Given the description of an element on the screen output the (x, y) to click on. 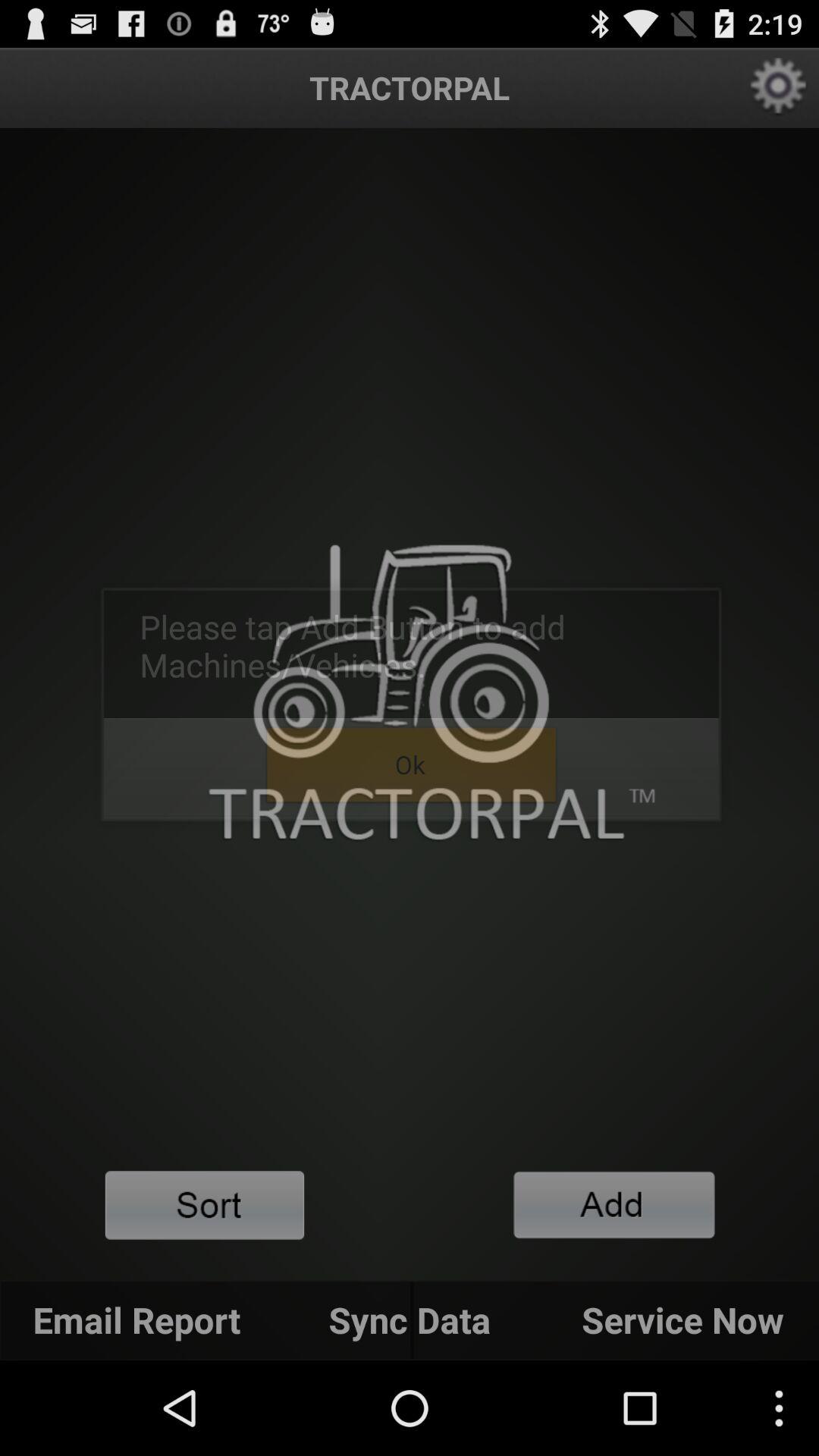
open settings (778, 87)
